Given the description of an element on the screen output the (x, y) to click on. 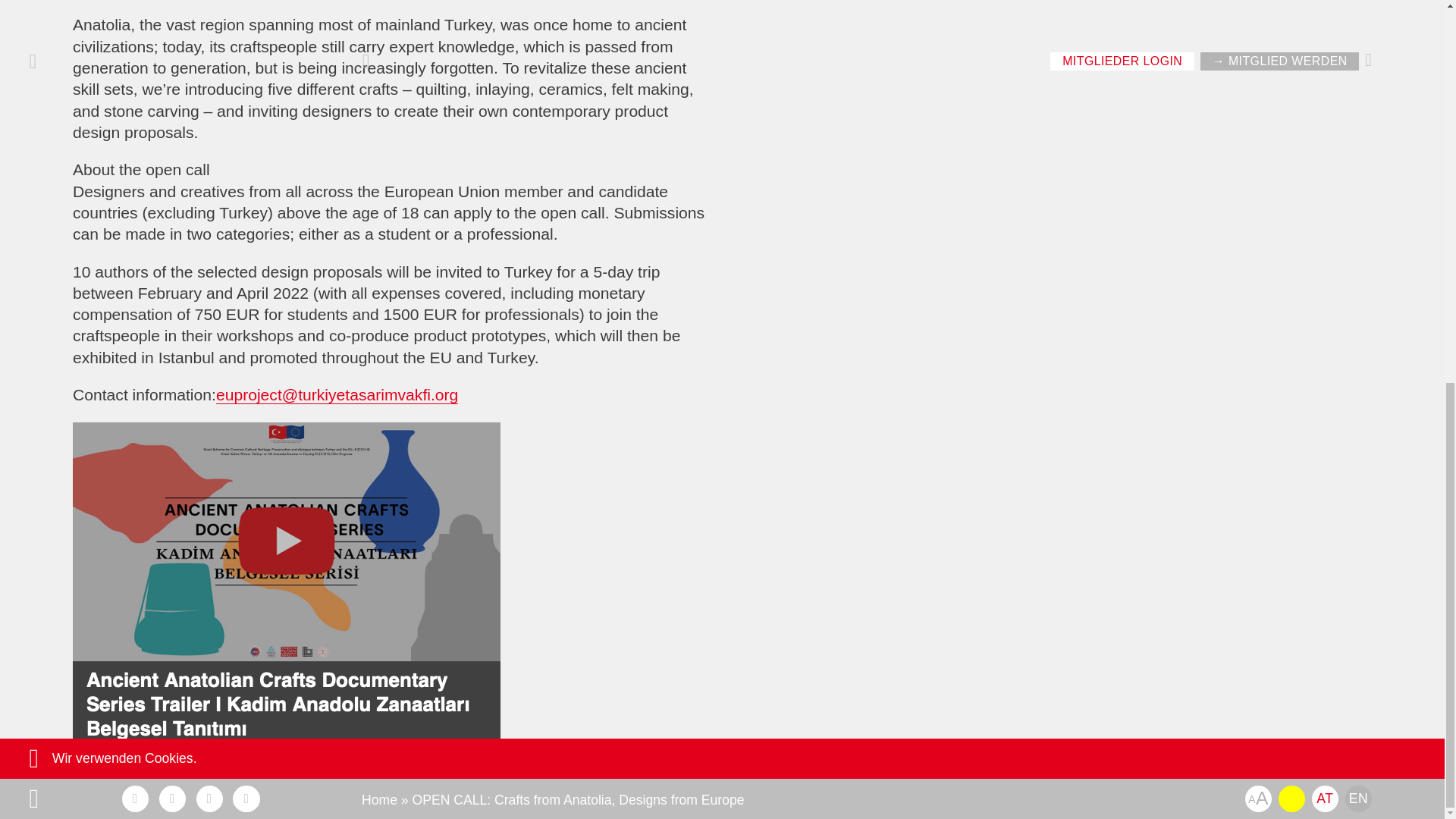
EN (1358, 81)
FAQ (465, 115)
AT (1324, 81)
AGB Webshop (826, 115)
Datenschutz (615, 115)
Home (379, 82)
Presse (527, 115)
Impressum (717, 115)
Kontakt (1257, 81)
